Given the description of an element on the screen output the (x, y) to click on. 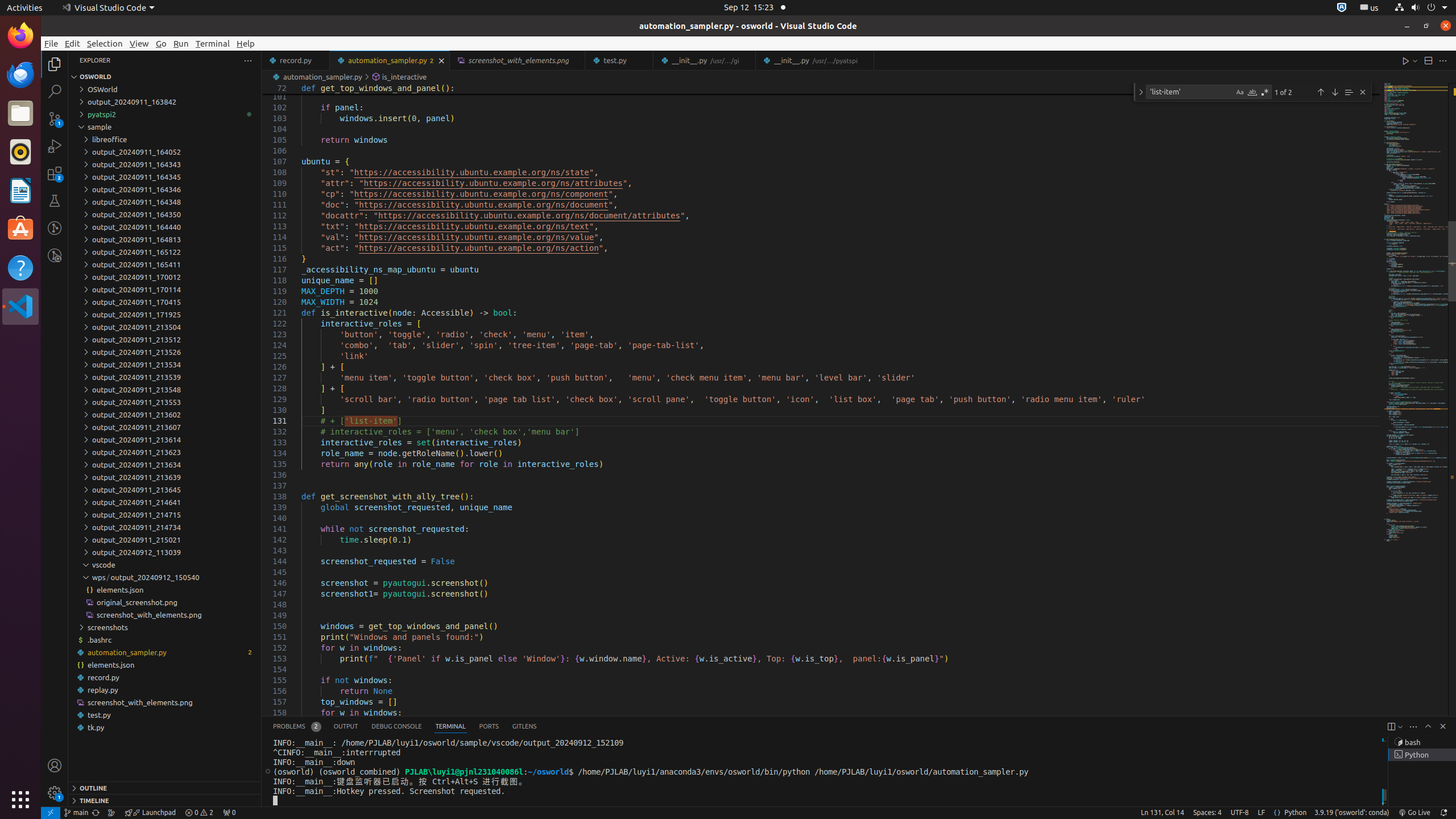
OSWorld (Git) - Synchronize Changes Element type: push-button (95, 812)
Explorer (Ctrl+Shift+E) Element type: page-tab (54, 63)
output_20240911_214734 Element type: tree-item (164, 526)
GitLens Element type: page-tab (524, 726)
Maximize Panel Size Element type: check-box (1427, 726)
